Given the description of an element on the screen output the (x, y) to click on. 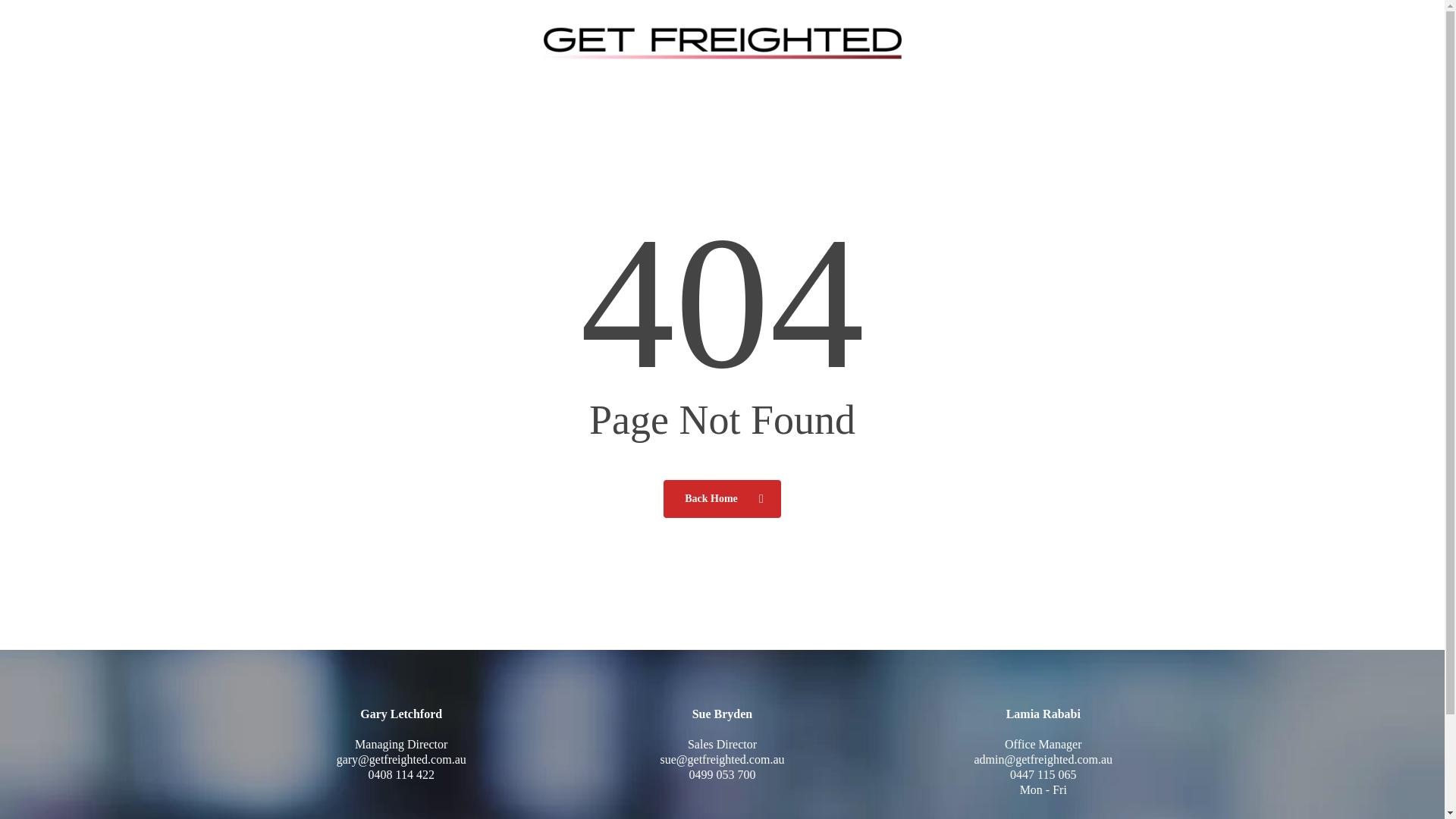
0499 053 700 (721, 774)
0447 115 065 (1042, 774)
Back Home (721, 497)
0408 114 422 (400, 774)
